Given the description of an element on the screen output the (x, y) to click on. 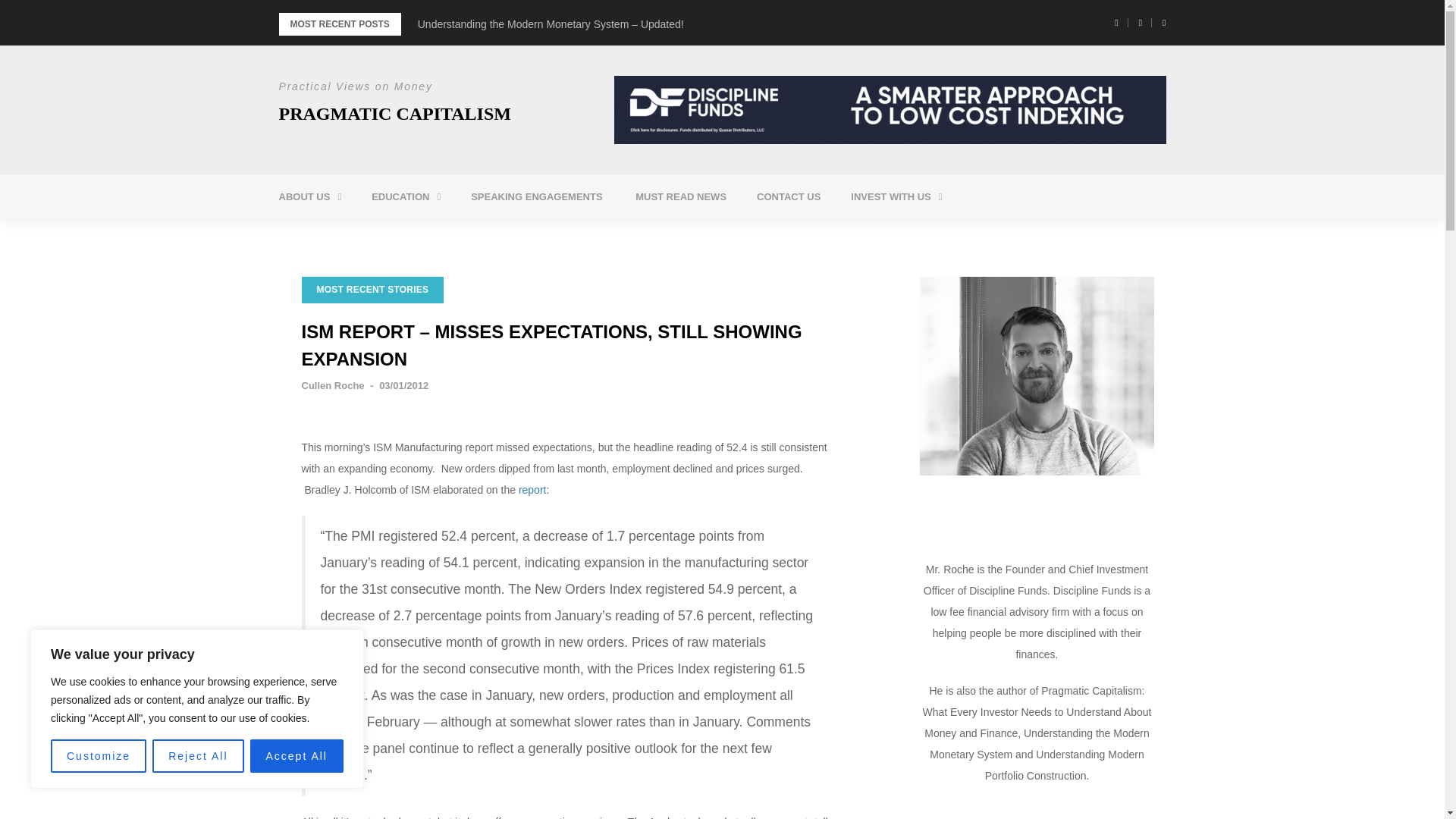
PRAGMATIC CAPITALISM (395, 113)
EDUCATION (405, 197)
ABOUT US (309, 197)
Understanding Money (458, 235)
Customize (98, 756)
Reject All (197, 756)
About Us (309, 197)
Meet Cullen Roche! (365, 235)
Meet Cullen Roche! (365, 235)
Accept All (296, 756)
